Given the description of an element on the screen output the (x, y) to click on. 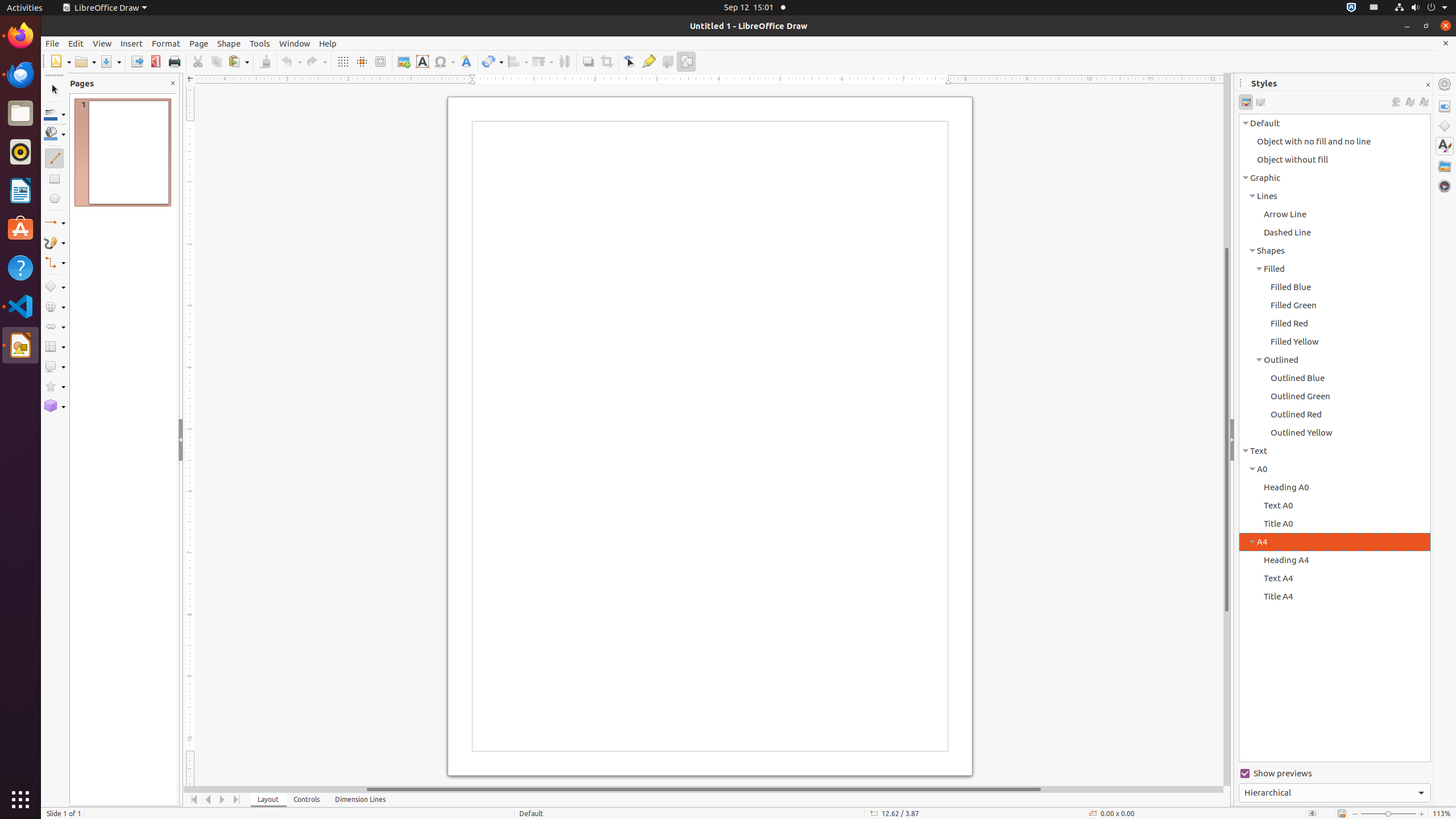
Shapes Element type: radio-button (1444, 126)
Select Element type: push-button (53, 89)
Update Style Element type: push-button (1423, 101)
Fill Format Mode Element type: push-button (1395, 101)
Edit Element type: menu (75, 43)
